Given the description of an element on the screen output the (x, y) to click on. 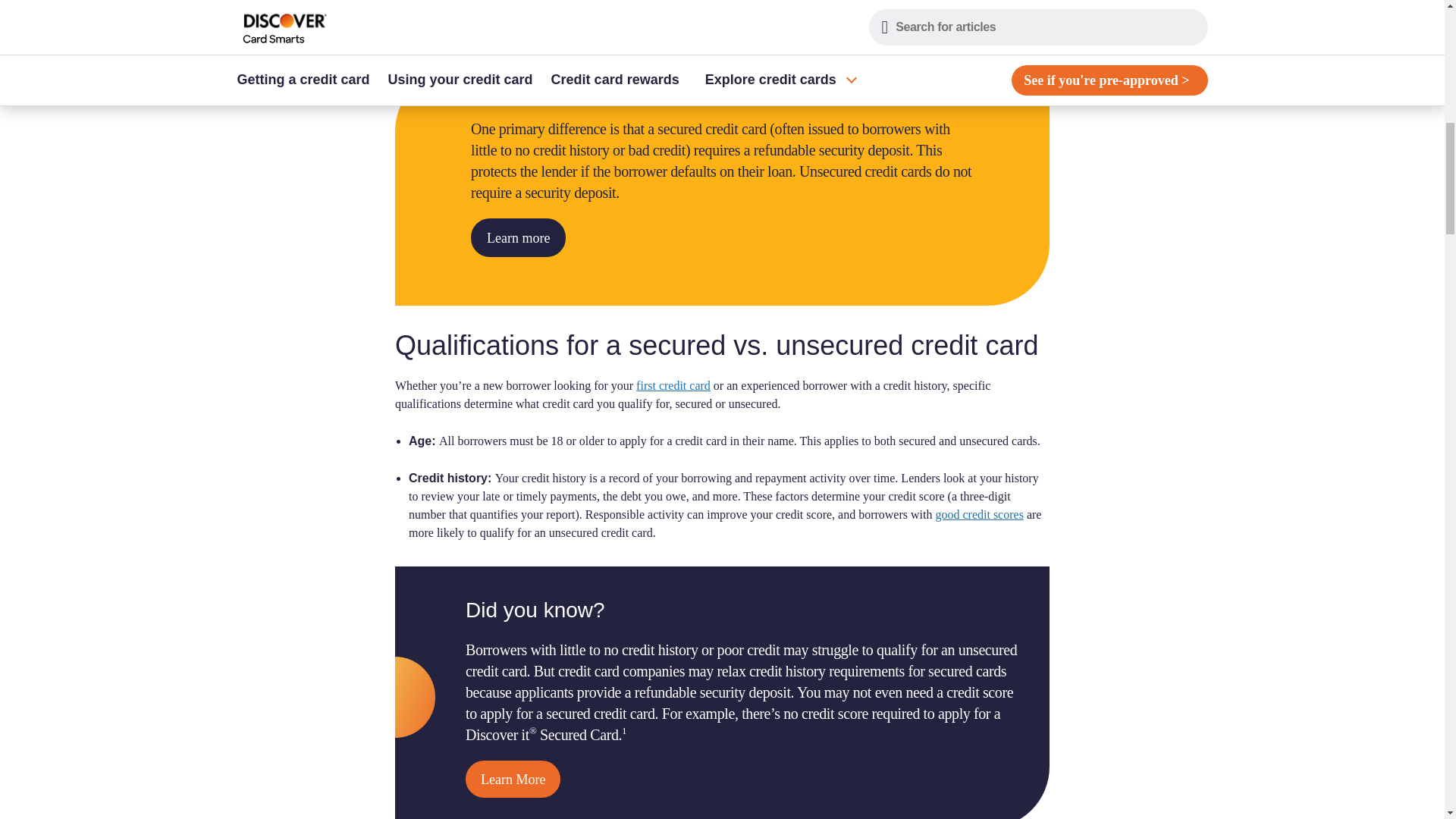
first credit card (673, 385)
Learn More (512, 778)
good credit scores (978, 513)
Learn more (518, 237)
